Given the description of an element on the screen output the (x, y) to click on. 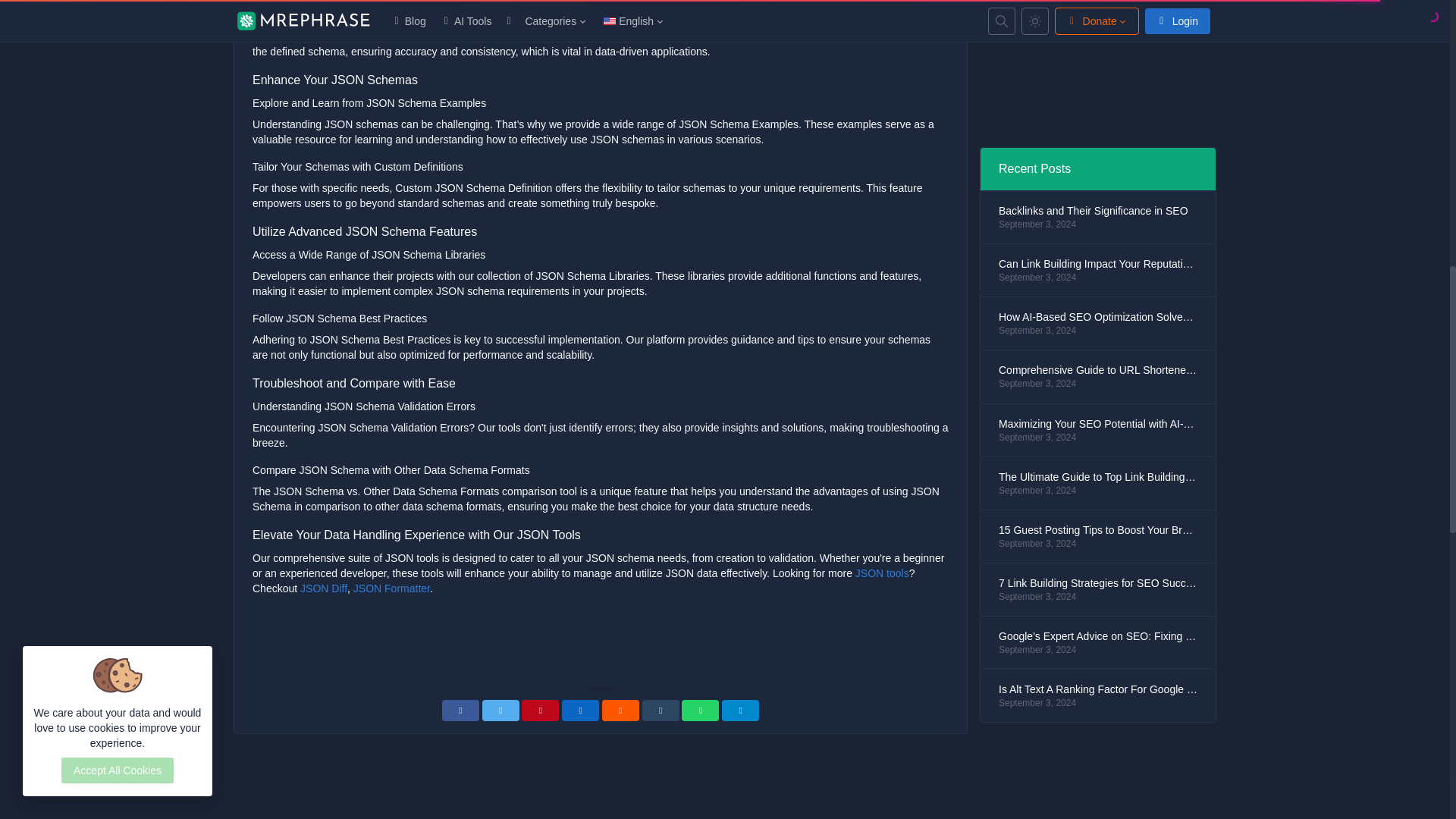
Can Link Building Impact Your Reputation? (1097, 263)
Advertisement (600, 642)
Backlinks and Their Significance in SEO (1097, 210)
